Given the description of an element on the screen output the (x, y) to click on. 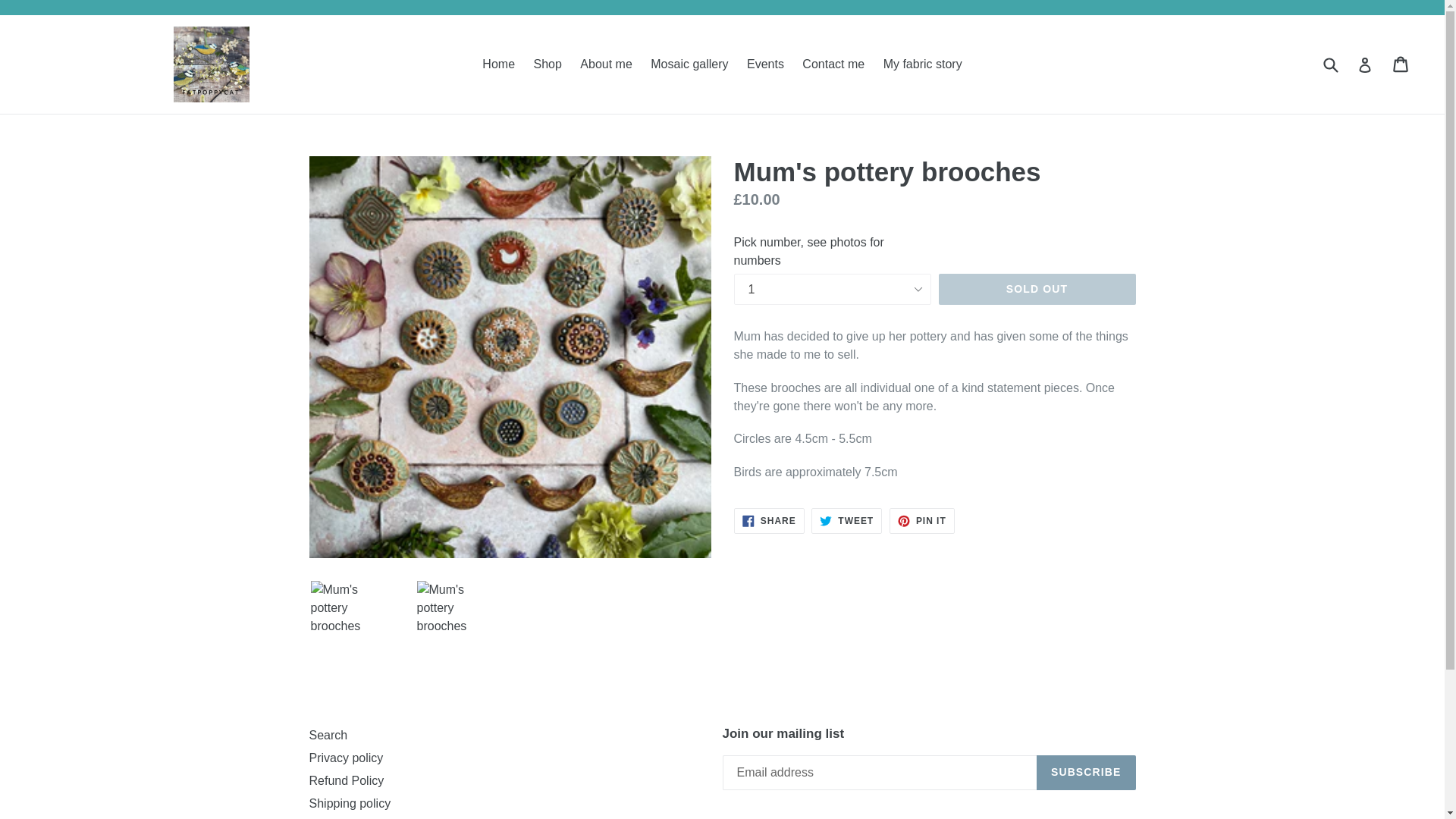
My fabric story (922, 64)
Privacy policy (346, 757)
Contact me (846, 520)
Mosaic gallery (833, 64)
About me (689, 64)
Pin on Pinterest (605, 64)
Refund Policy (922, 520)
SOLD OUT (346, 780)
Log in (1037, 289)
Shipping policy (1364, 64)
Share on Facebook (349, 802)
Shop (769, 520)
Submit (547, 64)
Home (1329, 63)
